Given the description of an element on the screen output the (x, y) to click on. 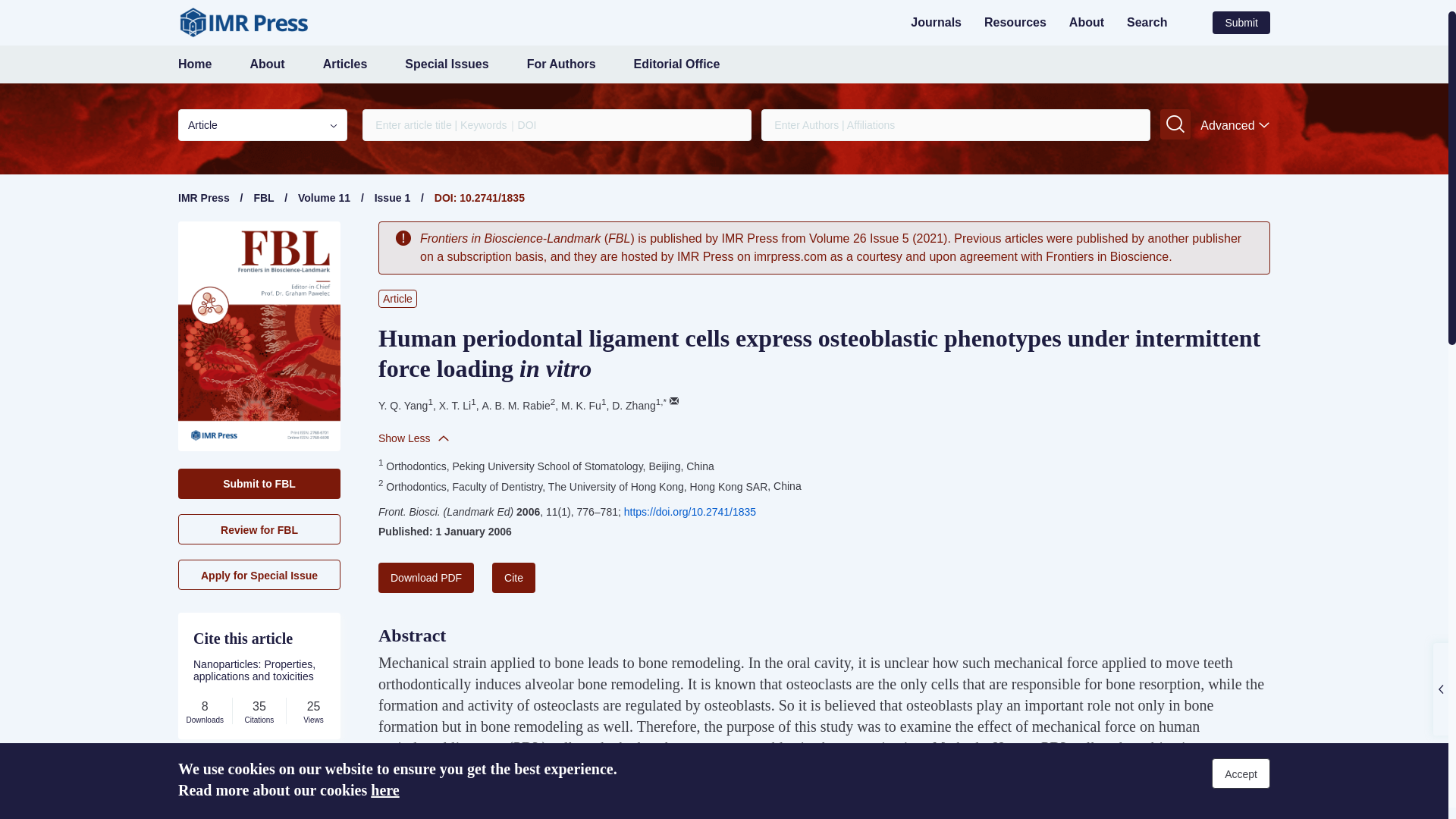
Articles (345, 63)
Home (194, 63)
About (265, 63)
Journals (935, 21)
Resources (1015, 21)
Search (1146, 21)
About (1085, 21)
